Given the description of an element on the screen output the (x, y) to click on. 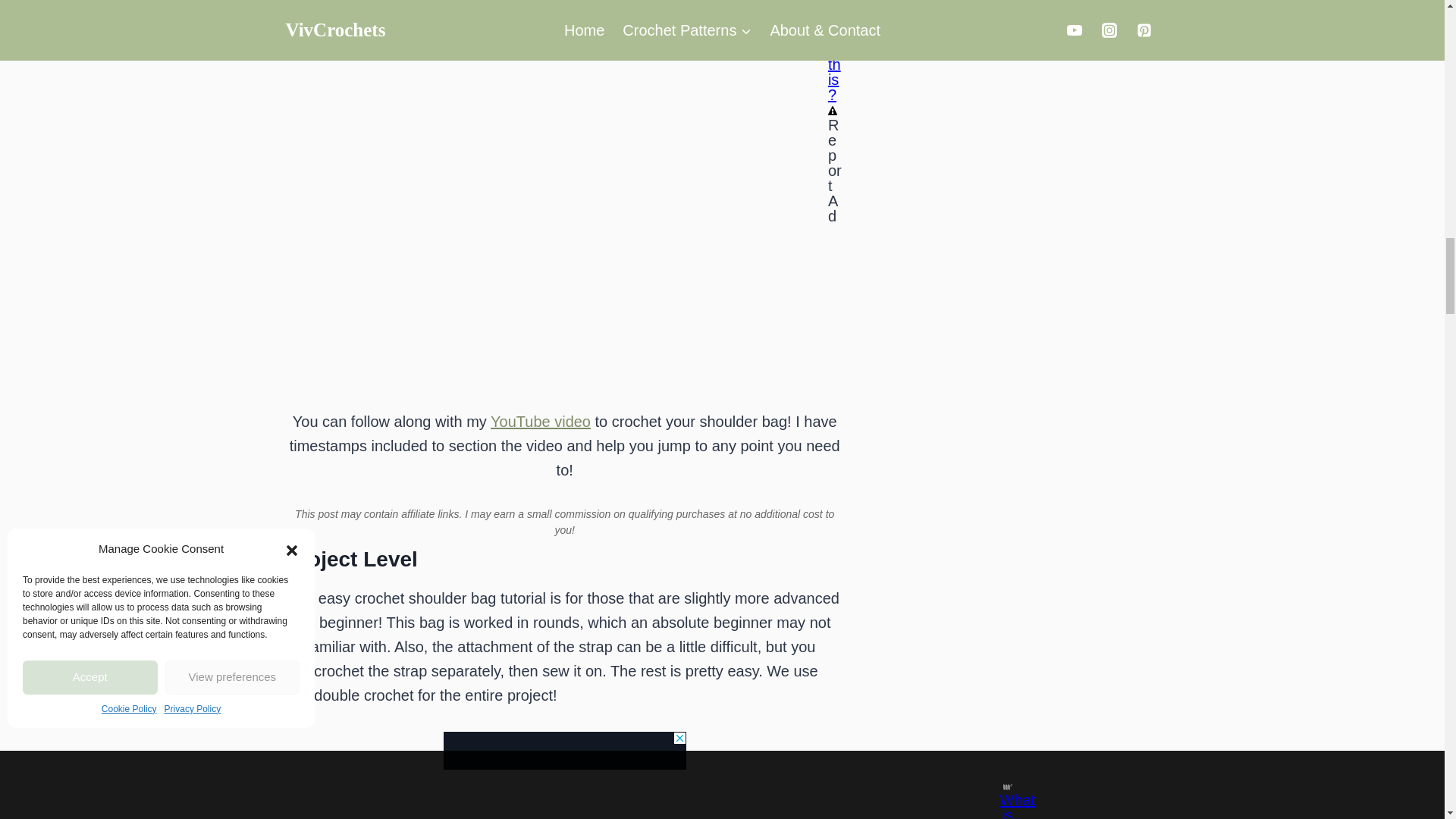
3rd party ad content (564, 750)
